Given the description of an element on the screen output the (x, y) to click on. 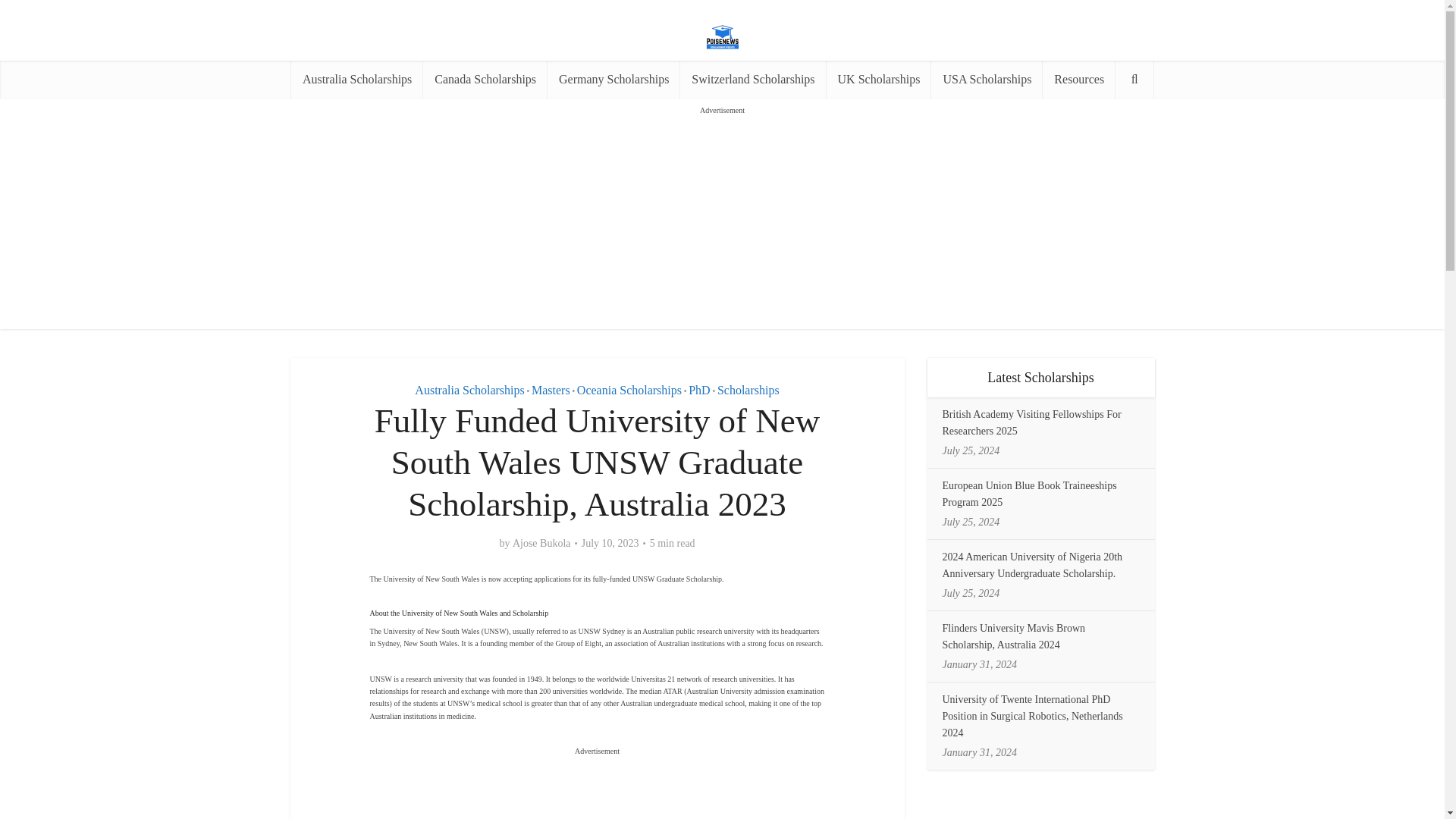
USA Scholarships (986, 79)
Australia Scholarships (469, 390)
European Union Blue Book Traineeships Program 2025 (1029, 493)
Flinders University Mavis Brown Scholarship, Australia 2024 (1013, 636)
Oceania Scholarships (628, 390)
PhD (699, 390)
UK Scholarships (879, 79)
Germany Scholarships (613, 79)
Canada Scholarships (485, 79)
